Given the description of an element on the screen output the (x, y) to click on. 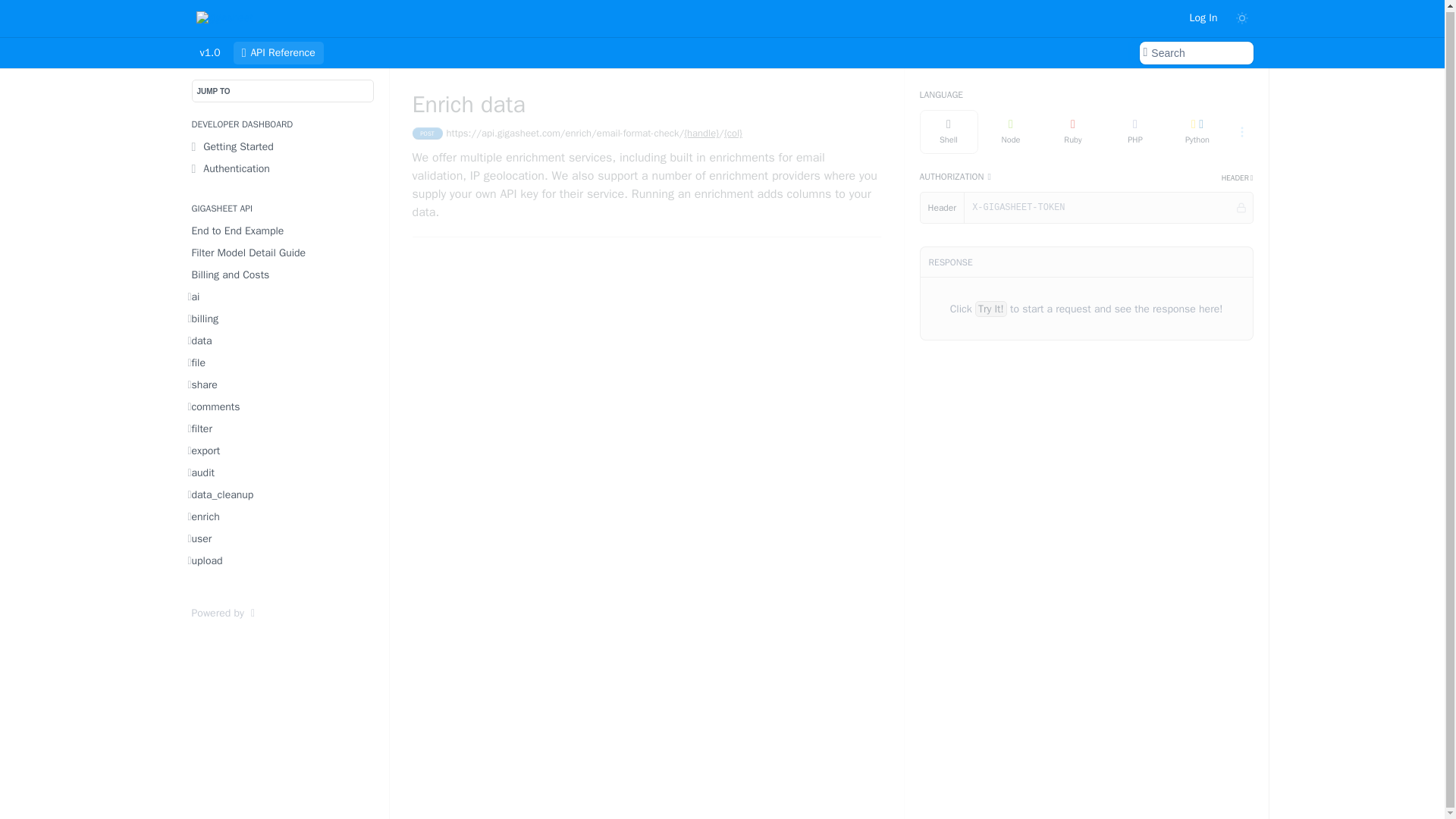
API Reference (277, 52)
ai (282, 296)
Billing and Costs (282, 274)
data (282, 340)
Filter Model Detail Guide (282, 252)
Authentication (282, 168)
JUMP TO (281, 90)
Getting Started (282, 146)
Search (1195, 52)
End to End Example (282, 230)
